Given the description of an element on the screen output the (x, y) to click on. 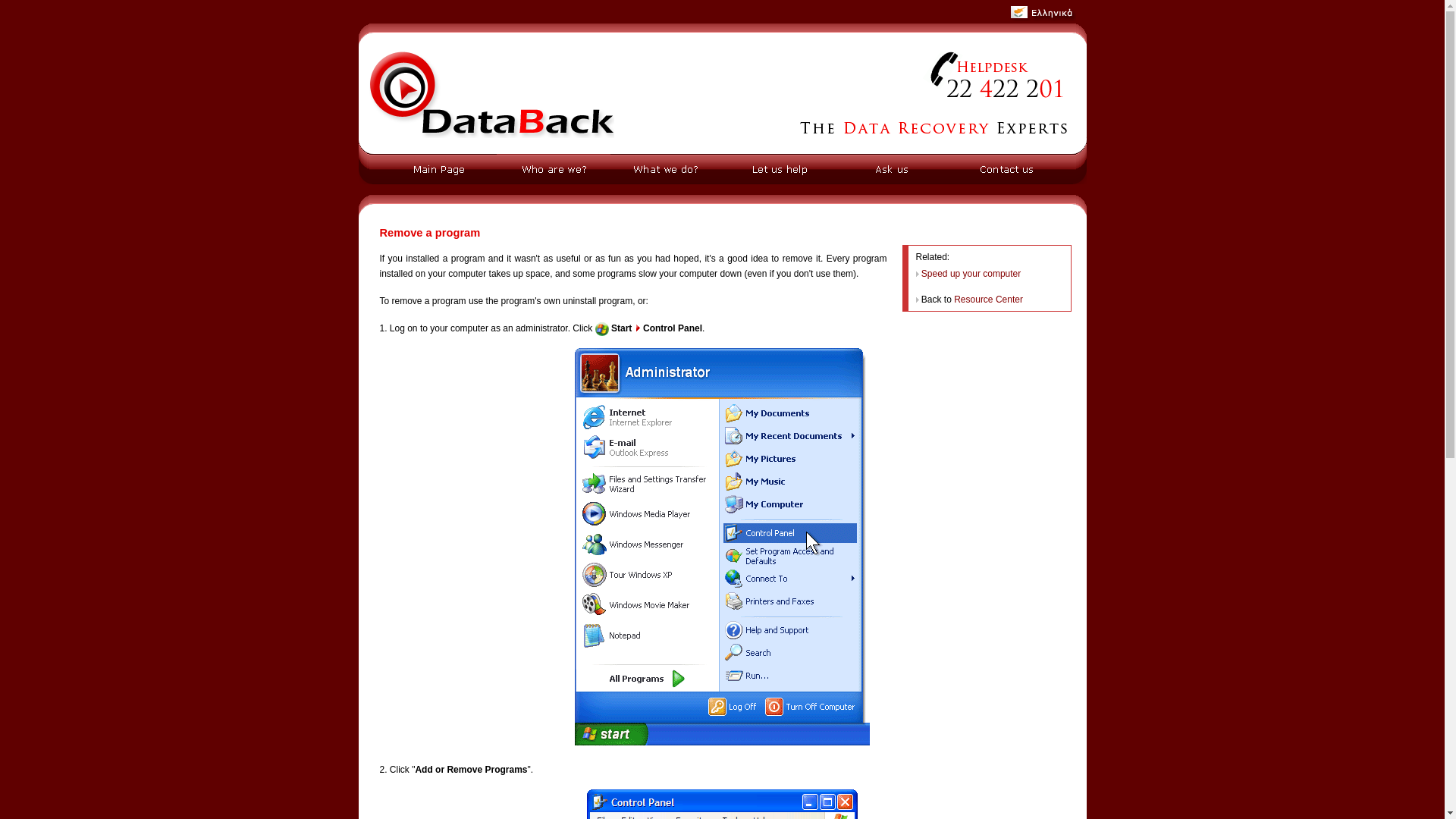
Contact us (1005, 168)
Main page (437, 168)
Let us help (778, 168)
Who we are (551, 168)
Ask us (892, 168)
Control Panel with Add or Remove Programs icon selected (721, 804)
What we do? (665, 168)
Resource Center (988, 299)
Speed up your computer (970, 273)
